Given the description of an element on the screen output the (x, y) to click on. 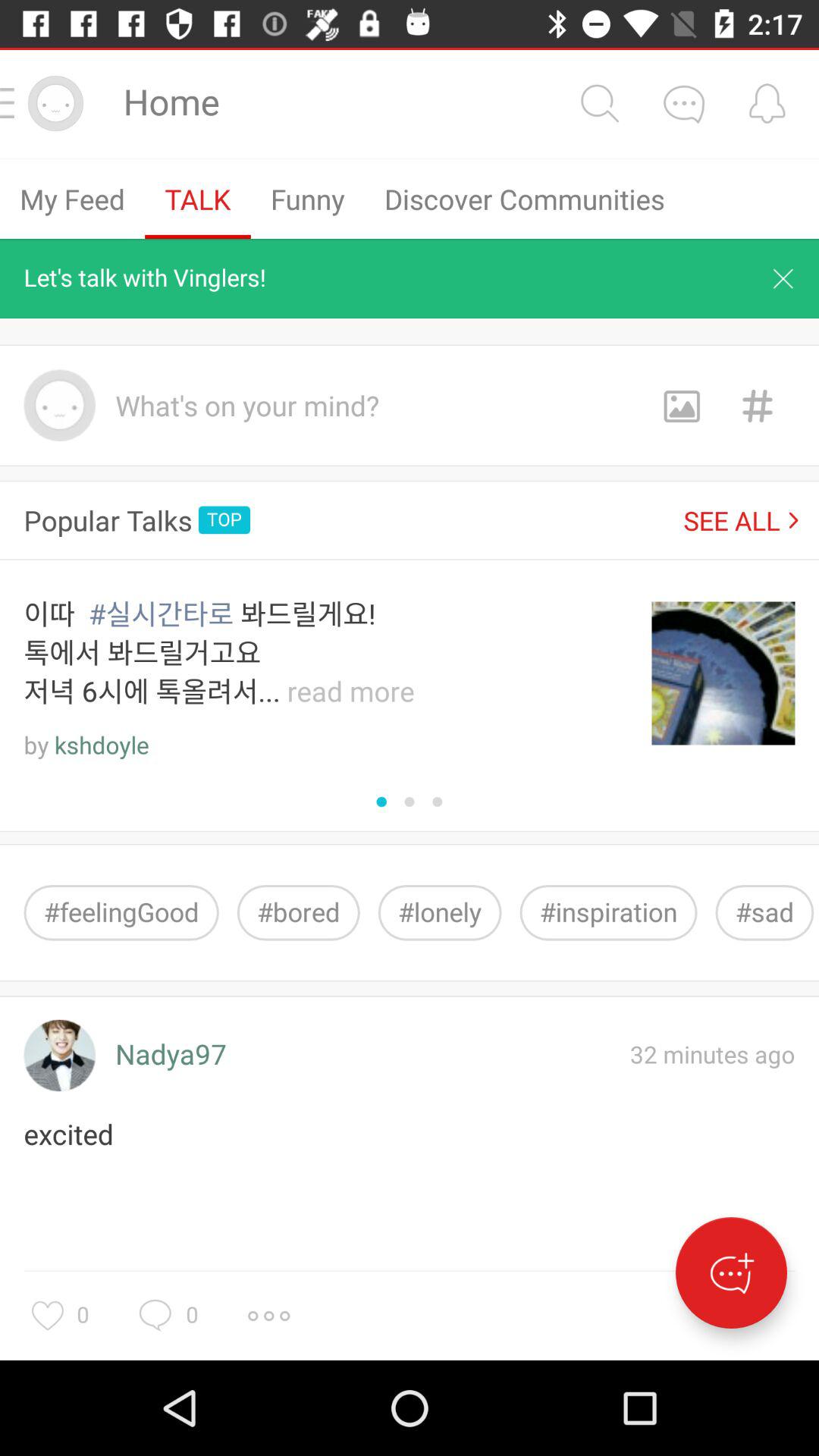
choose #sad icon (764, 912)
